Given the description of an element on the screen output the (x, y) to click on. 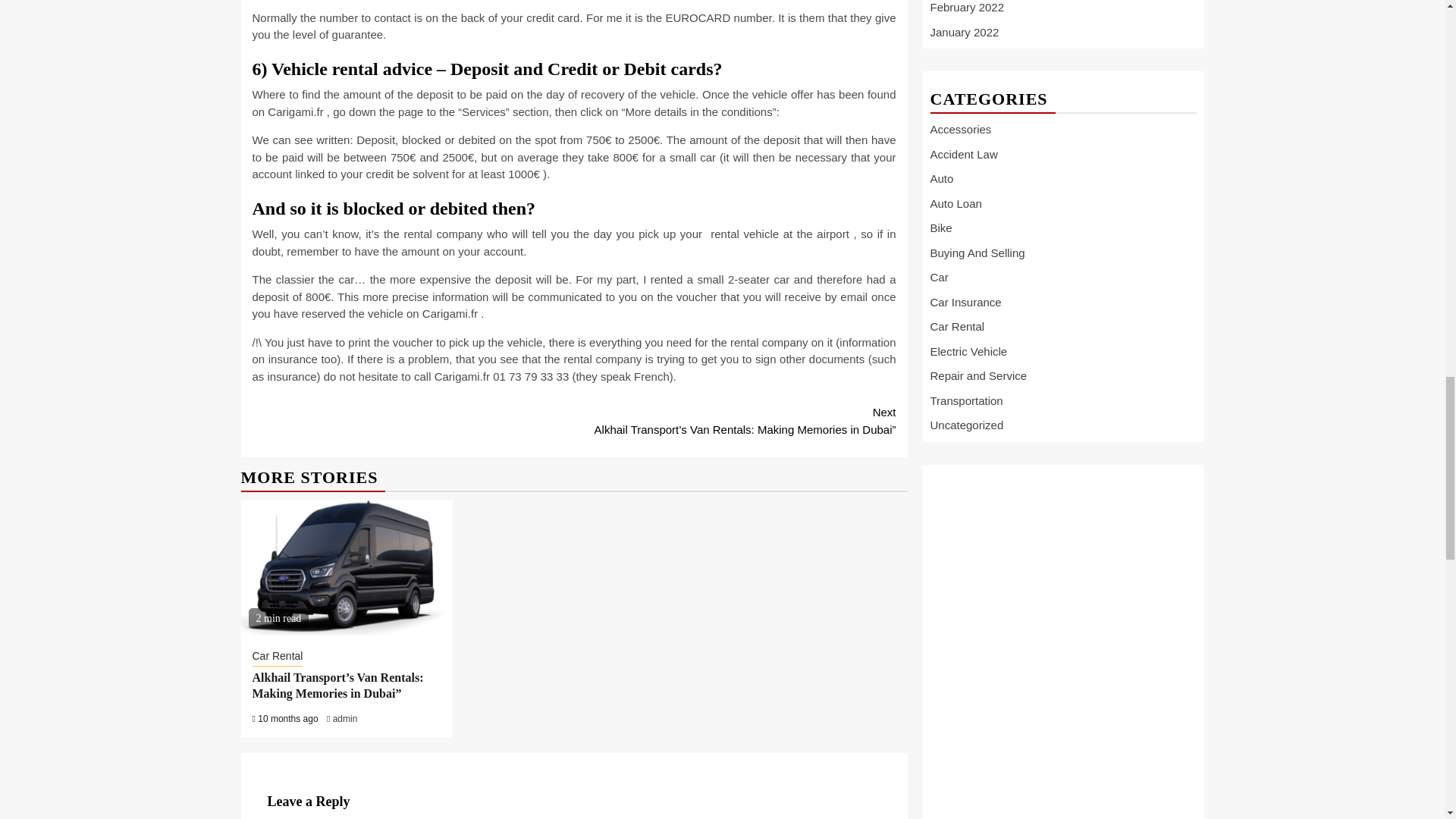
Advertisement (1051, 481)
Car Rental (276, 657)
admin (345, 718)
